Given the description of an element on the screen output the (x, y) to click on. 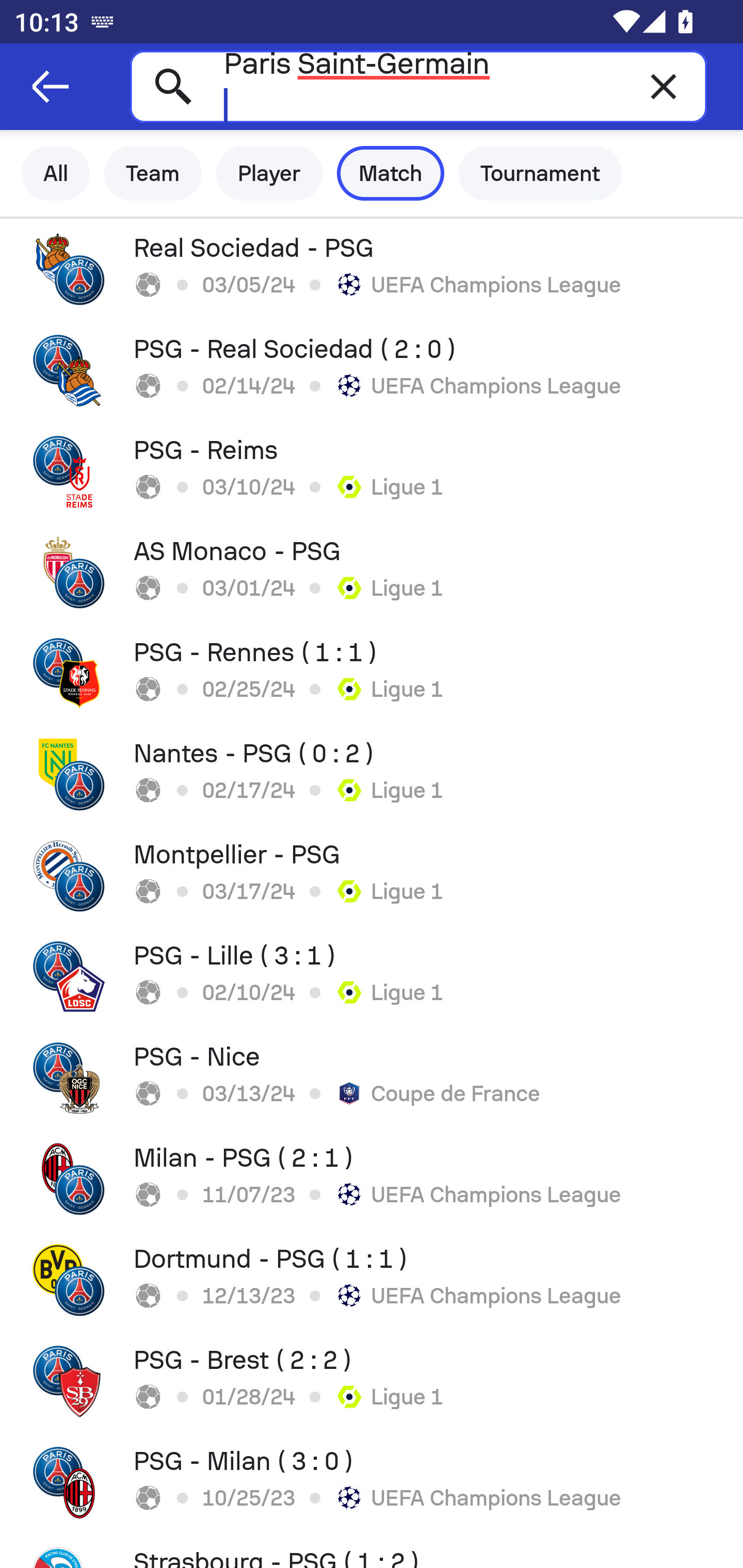
Navigate up (50, 86)
Paris Saint-Germain
 (418, 86)
Clear text (663, 86)
All (55, 172)
Team (152, 172)
Player (268, 172)
Match (390, 172)
Tournament (540, 172)
Real Sociedad - PSG 03/05/24 UEFA Champions League (371, 268)
PSG - Reims 03/10/24 Ligue 1 (371, 471)
AS Monaco - PSG 03/01/24 Ligue 1 (371, 572)
PSG - Rennes ( 1 : 1 ) 02/25/24 Ligue 1 (371, 673)
Nantes - PSG ( 0 : 2 ) 02/17/24 Ligue 1 (371, 774)
Montpellier - PSG 03/17/24 Ligue 1 (371, 875)
PSG - Lille ( 3 : 1 ) 02/10/24 Ligue 1 (371, 976)
PSG - Nice 03/13/24 Coupe de France (371, 1077)
PSG - Brest ( 2 : 2 ) 01/28/24 Ligue 1 (371, 1381)
